Given the description of an element on the screen output the (x, y) to click on. 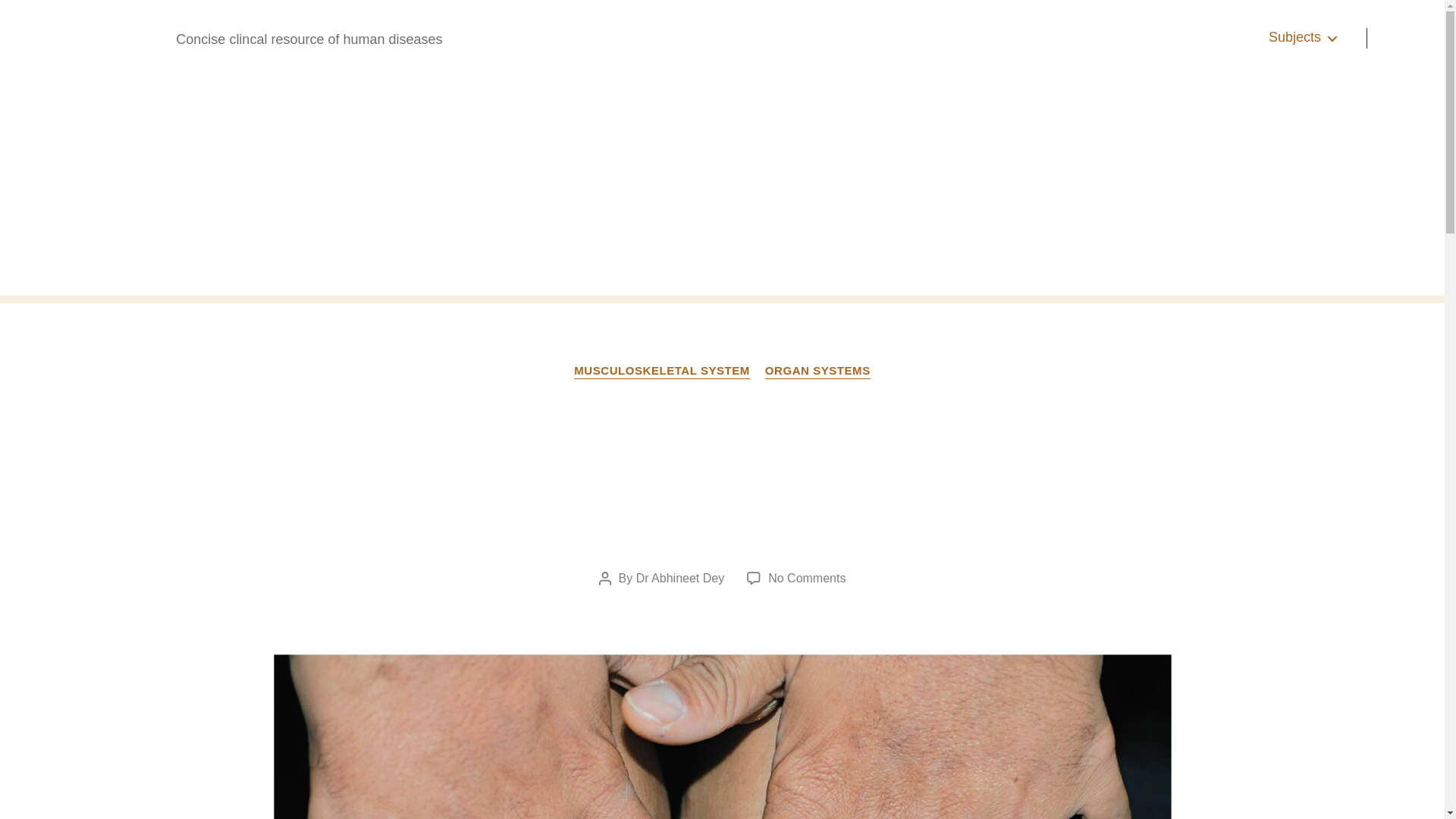
ORGAN SYSTEMS (817, 371)
MUSCULOSKELETAL SYSTEM (661, 371)
Subjects (1302, 37)
Capsule Health (93, 37)
